Given the description of an element on the screen output the (x, y) to click on. 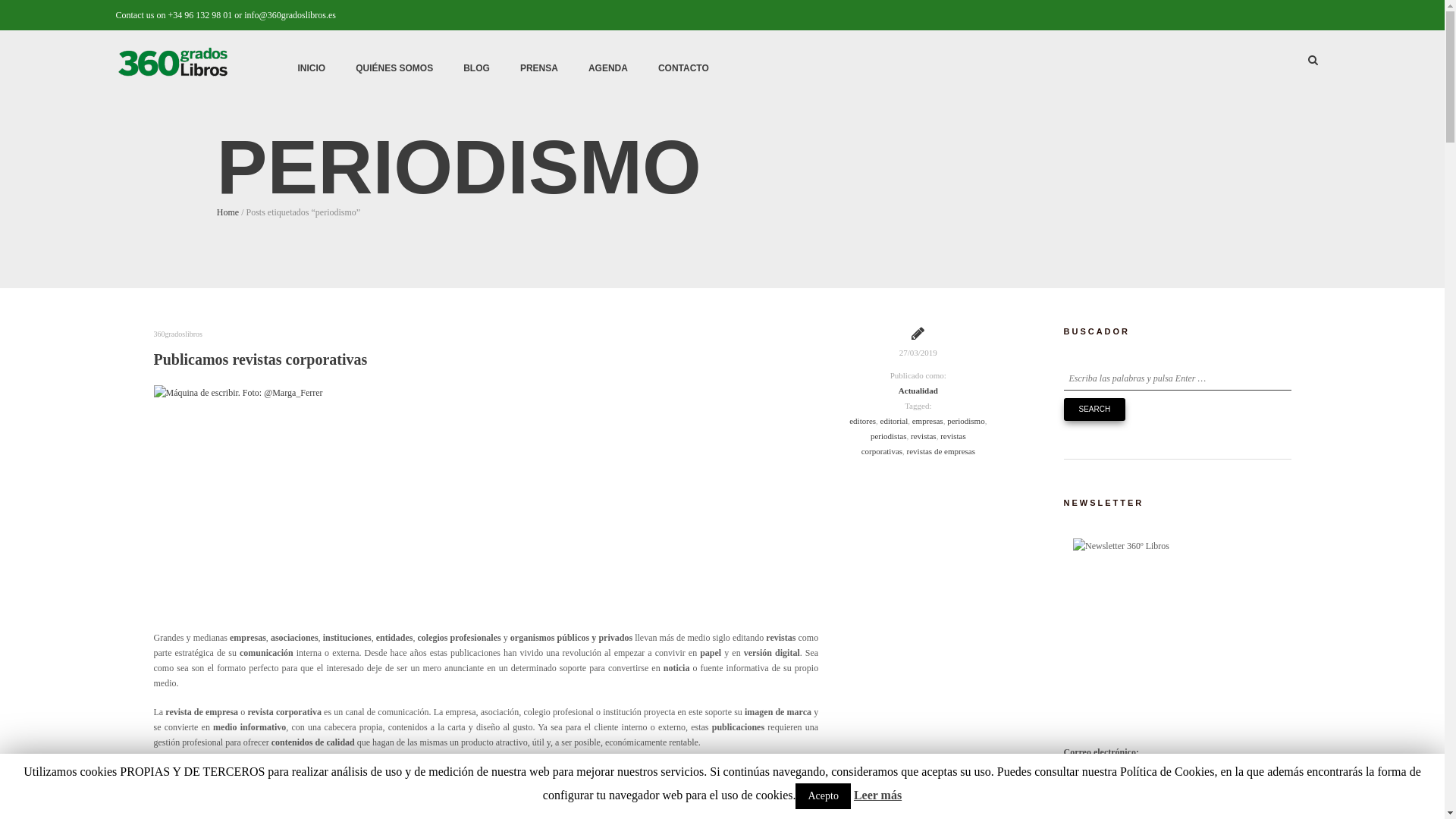
editores Element type: text (862, 420)
Home Element type: text (227, 212)
Acepto Element type: text (822, 796)
periodismo Element type: text (966, 420)
Search Element type: text (1094, 409)
INICIO Element type: text (311, 68)
PRENSA Element type: text (539, 68)
BLOG Element type: text (476, 68)
AGENDA Element type: text (608, 68)
Publicamos revistas corporativas Element type: text (260, 359)
Actualidad Element type: text (918, 390)
revistas corporativas Element type: text (913, 443)
periodistas Element type: text (888, 435)
revistas Element type: text (923, 435)
CONTACTO Element type: text (683, 68)
revistas de empresas Element type: text (940, 450)
editorial Element type: text (894, 420)
360gradoslibros Element type: text (177, 333)
empresas Element type: text (927, 420)
